Given the description of an element on the screen output the (x, y) to click on. 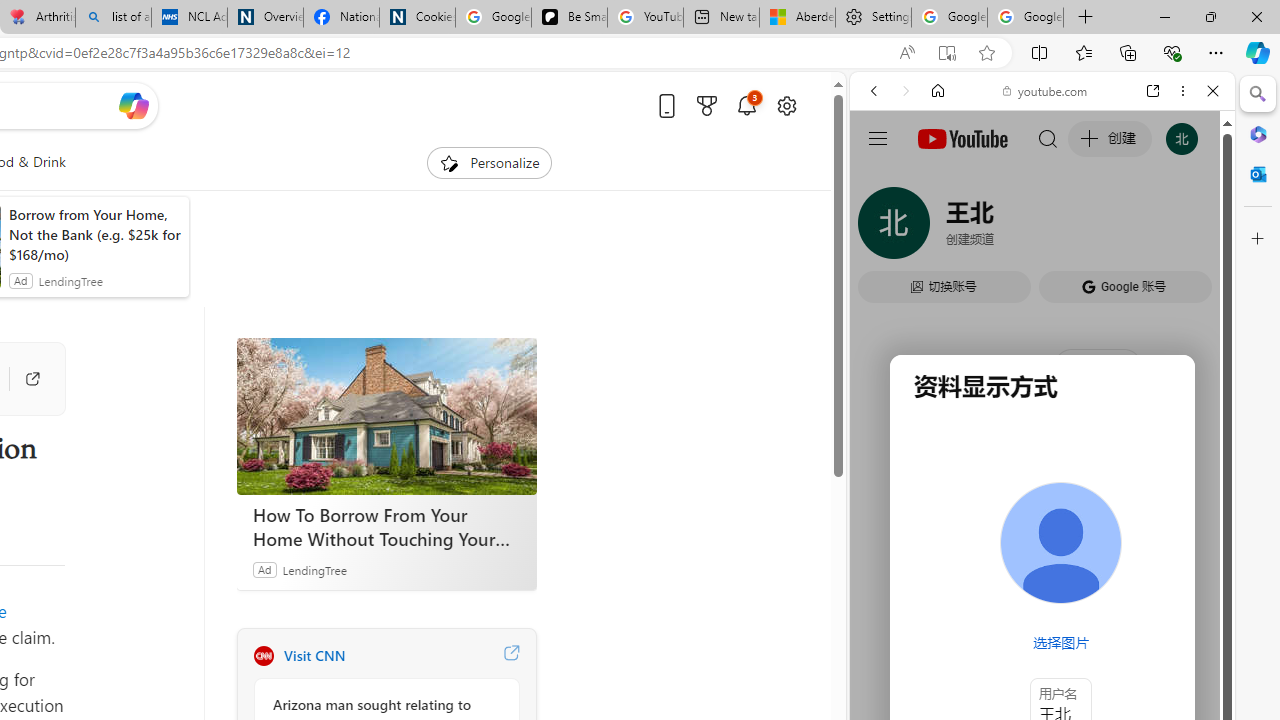
Music (1042, 543)
Cookies (417, 17)
